Given the description of an element on the screen output the (x, y) to click on. 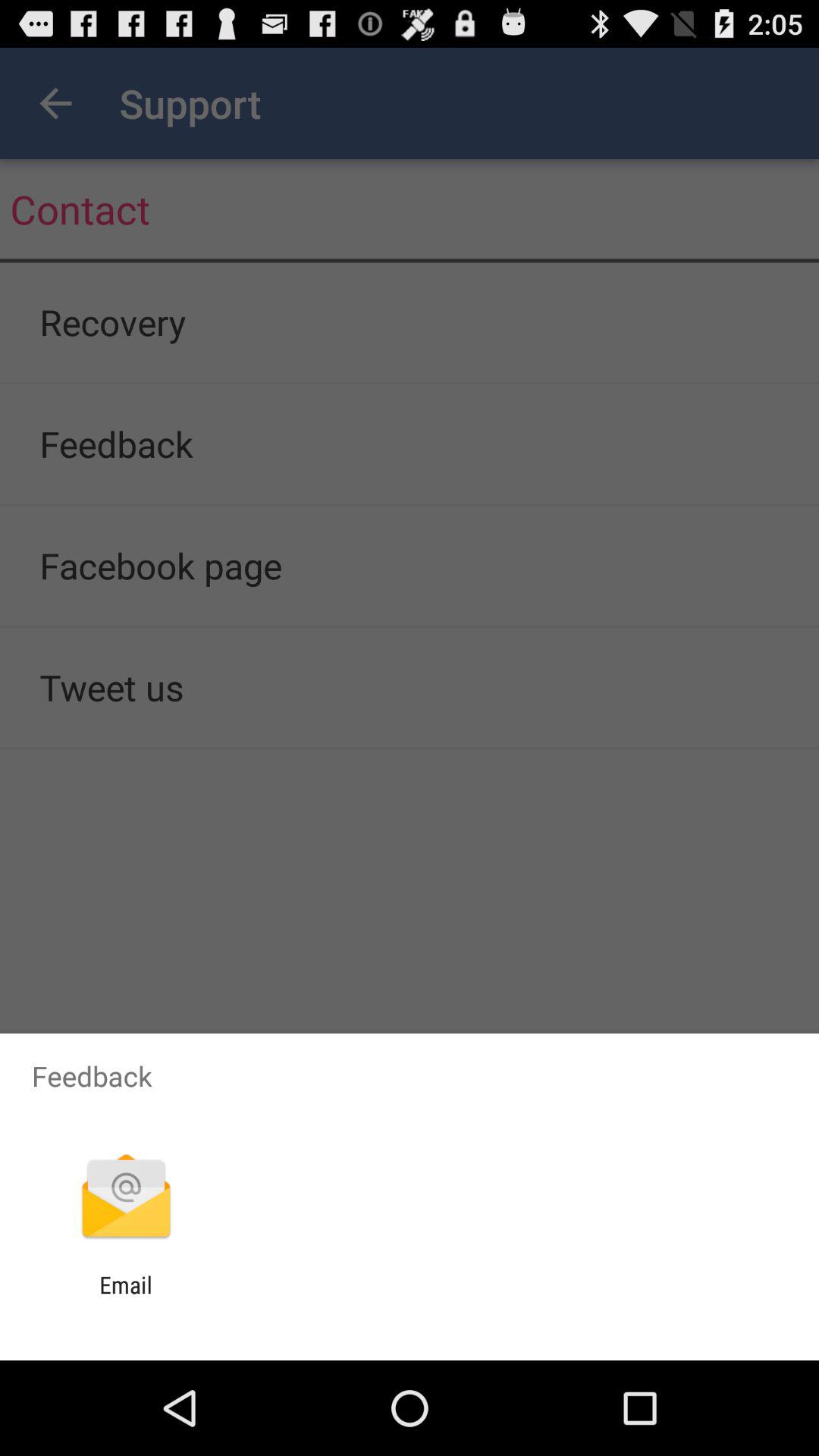
turn off the email icon (125, 1298)
